Given the description of an element on the screen output the (x, y) to click on. 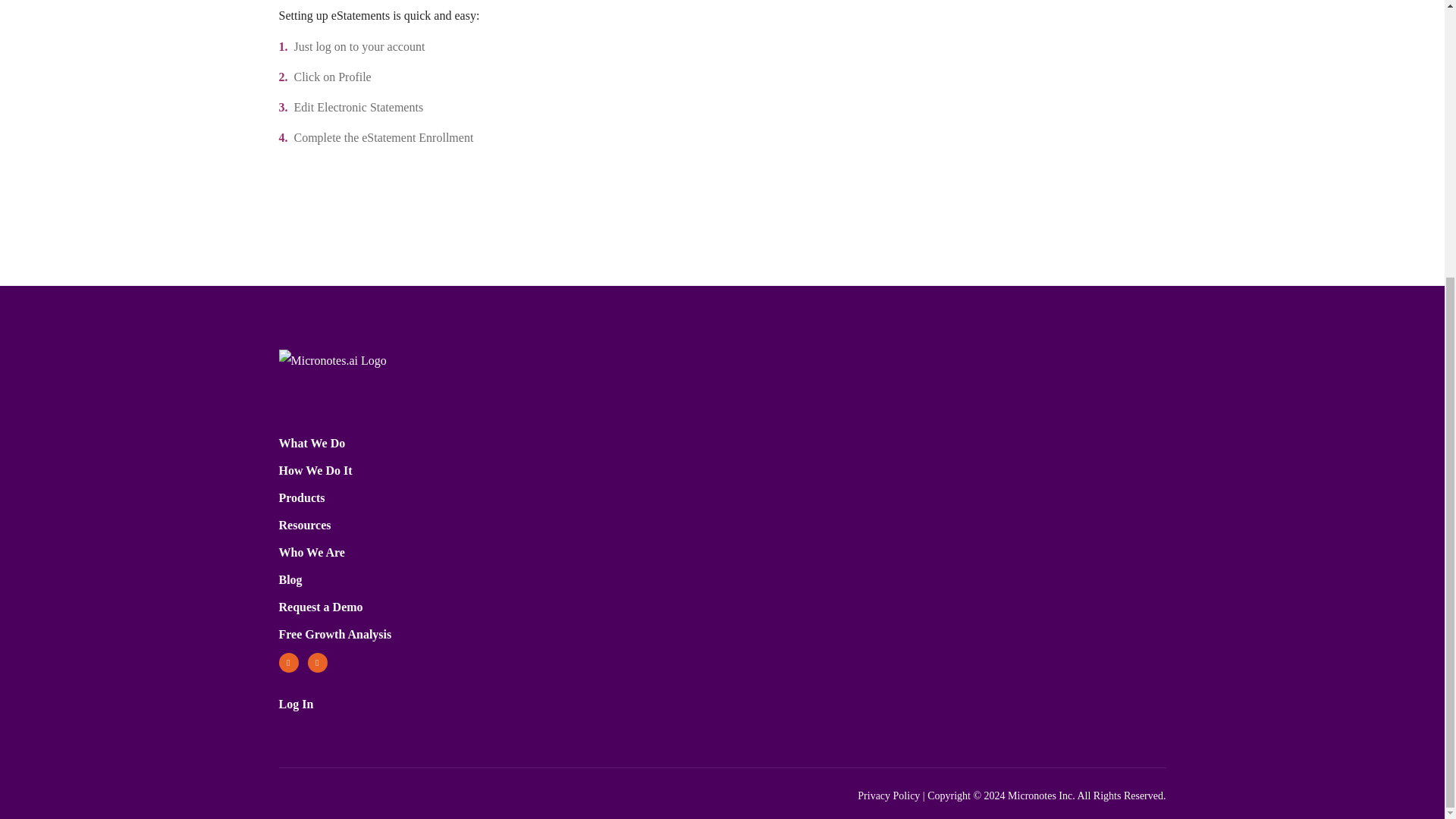
Request a Demo (320, 606)
What We Do (312, 442)
Blog (290, 579)
Products (301, 497)
Twitter (288, 662)
Resources (305, 524)
How We Do It (315, 470)
Linkedin (317, 662)
Who We Are (312, 552)
